Given the description of an element on the screen output the (x, y) to click on. 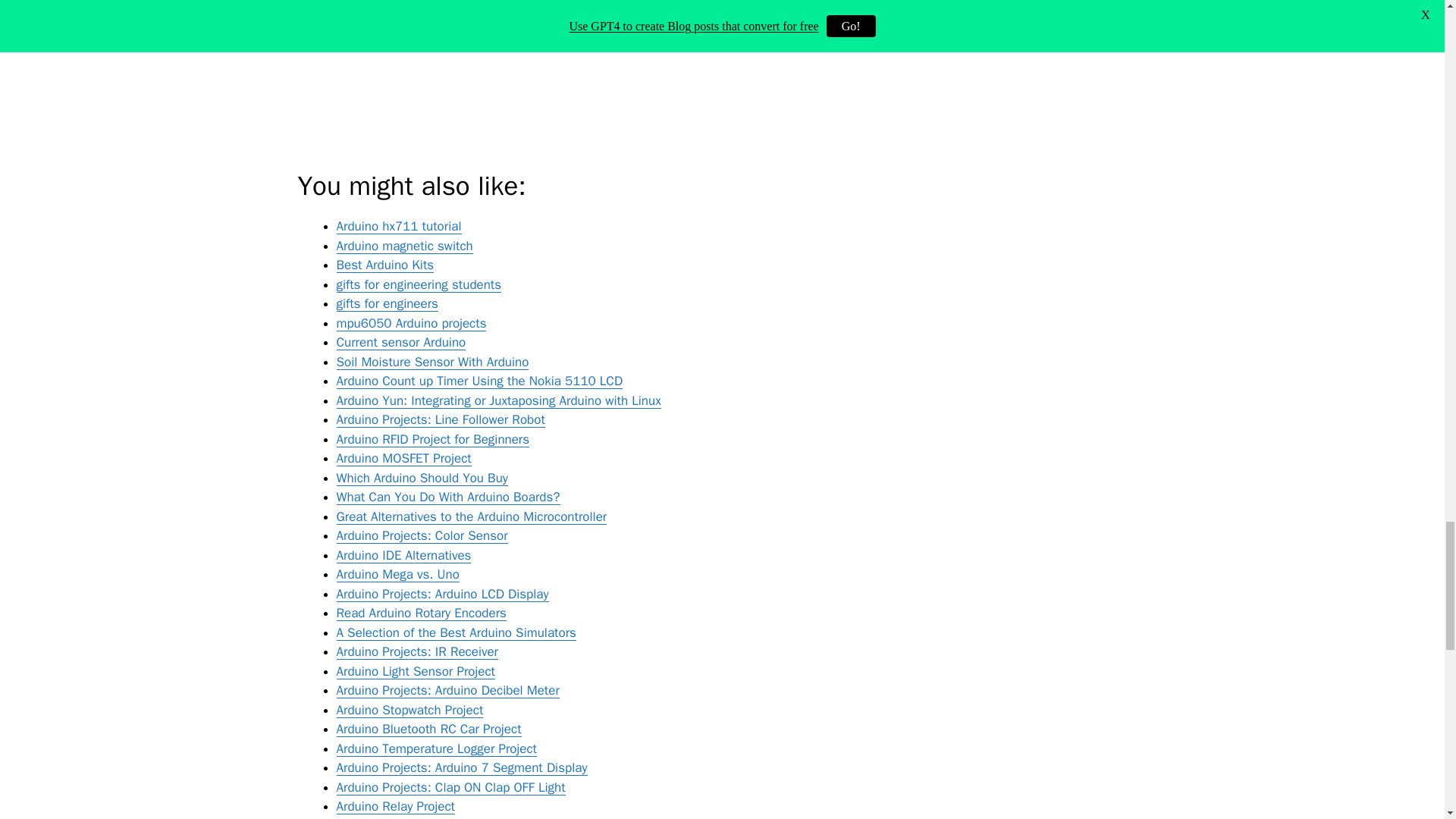
Arduino magnetic switch (404, 245)
gifts for engineers (387, 303)
gifts for engineering students (419, 284)
Arduino hx711 tutorial (398, 226)
Best Arduino Kits (384, 264)
mpu6050 Arduino projects (411, 323)
Current sensor Arduino (400, 342)
